Given the description of an element on the screen output the (x, y) to click on. 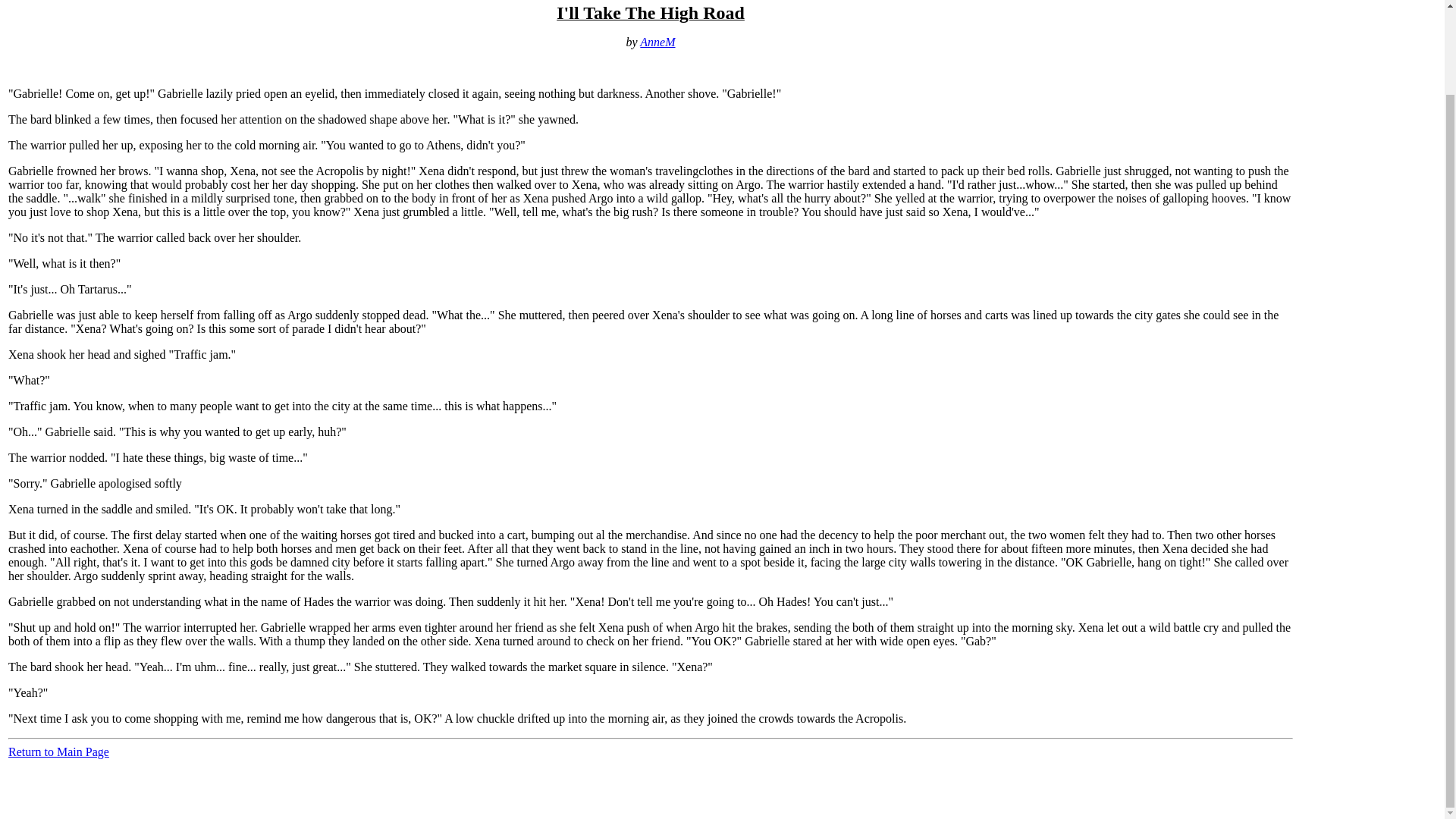
Return to Main Page (58, 751)
AnneM (657, 42)
